Given the description of an element on the screen output the (x, y) to click on. 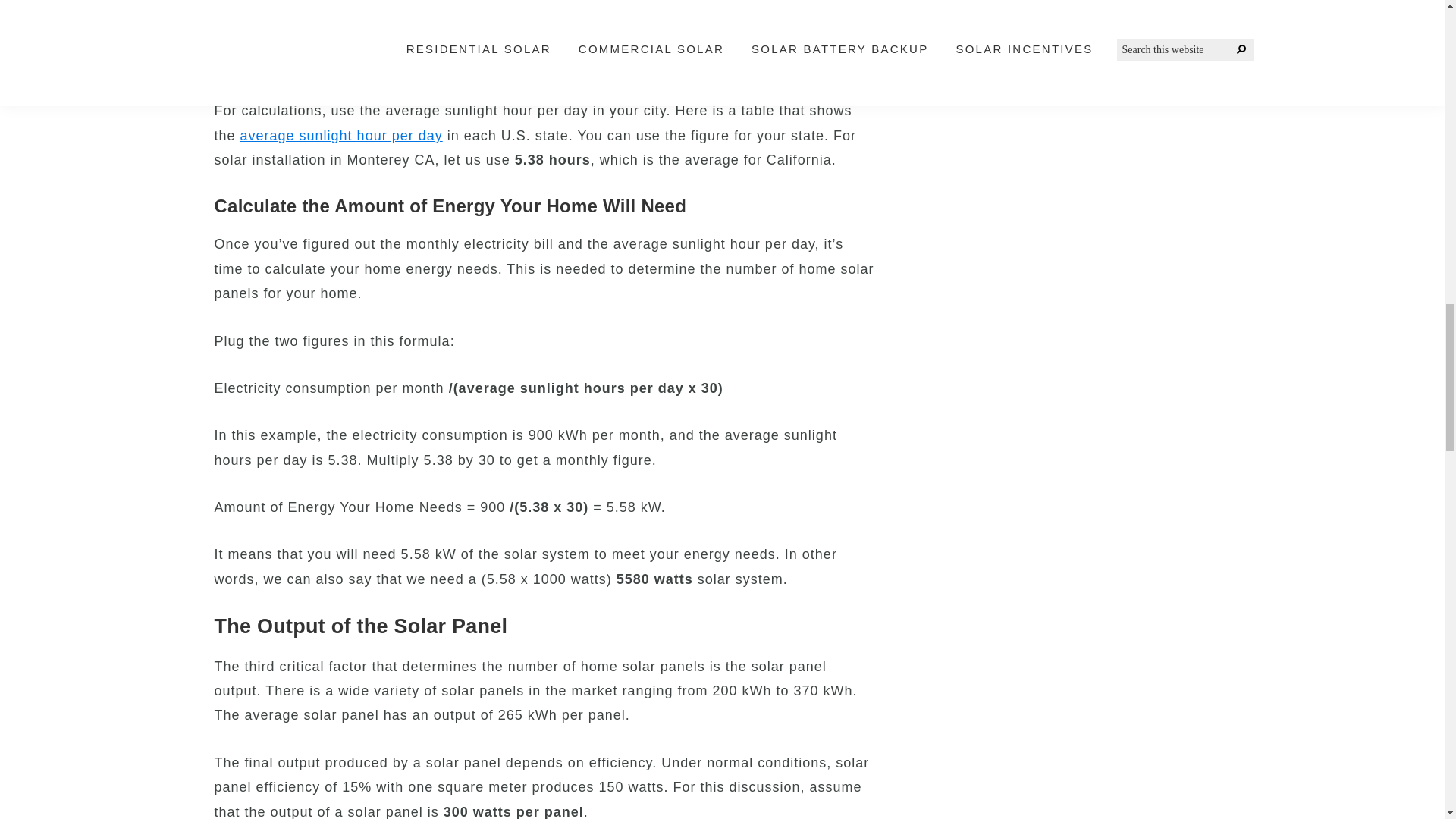
average sunlight hour per day (341, 135)
